Given the description of an element on the screen output the (x, y) to click on. 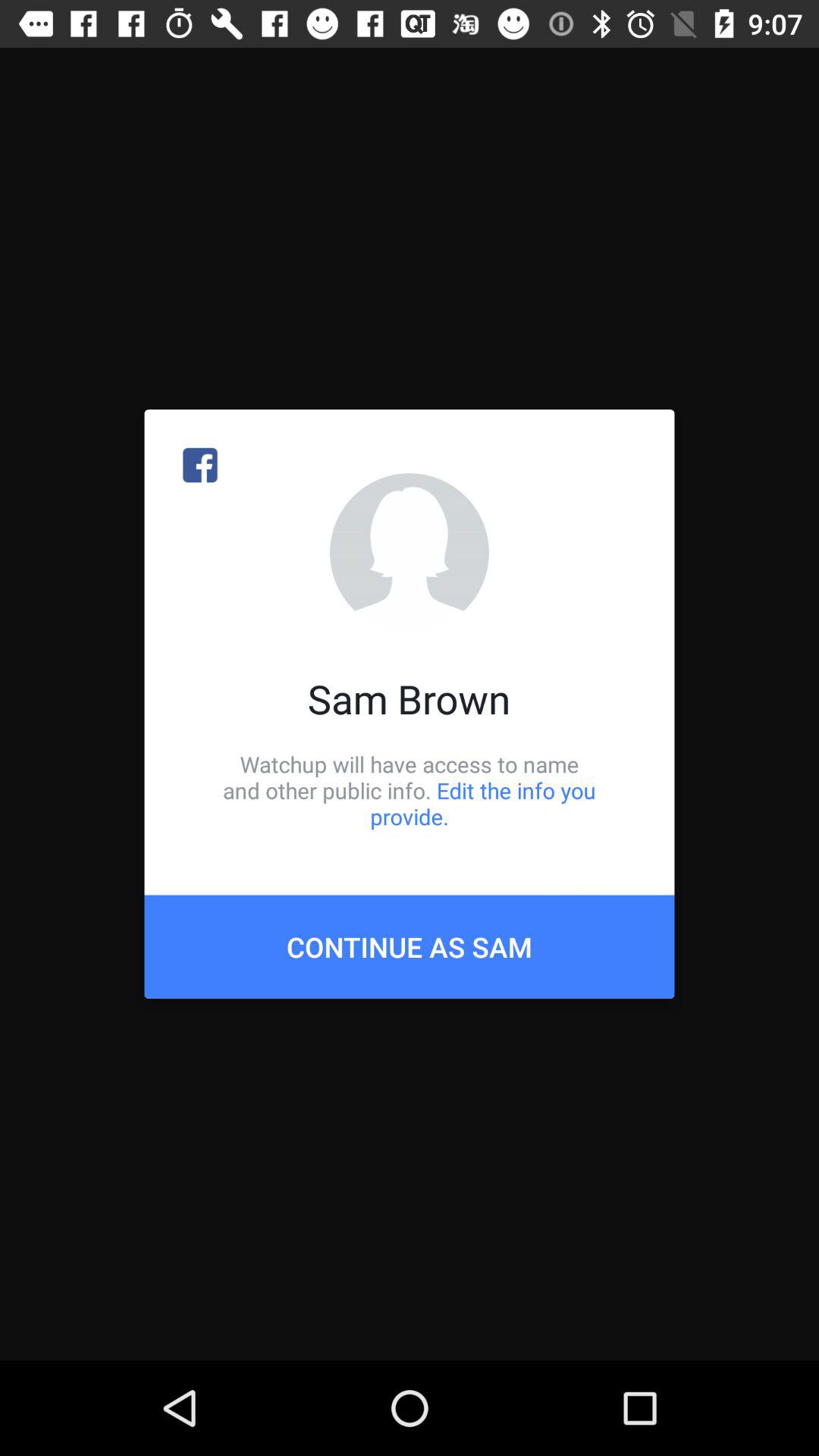
turn off the icon above the continue as sam item (409, 790)
